Given the description of an element on the screen output the (x, y) to click on. 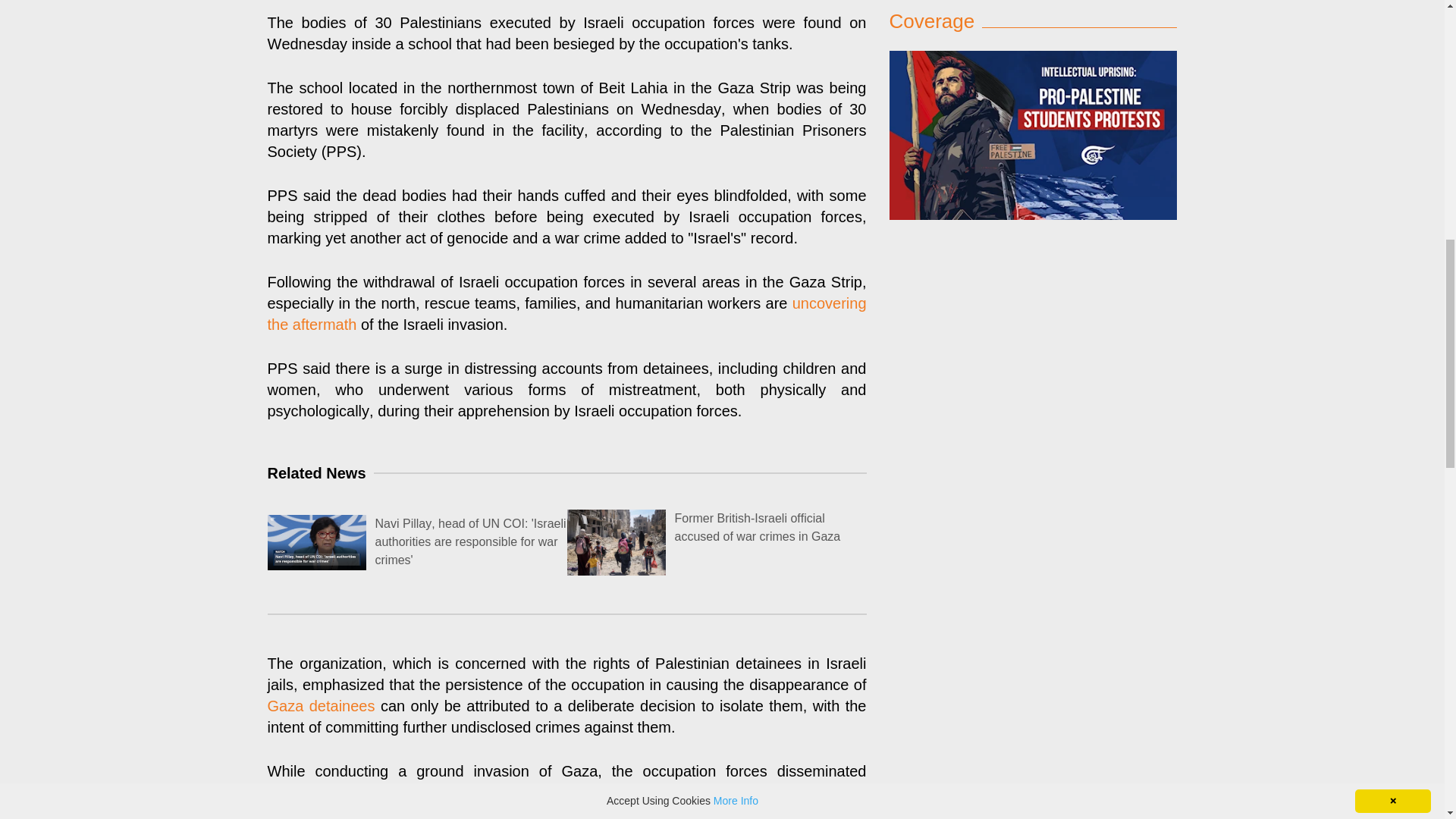
Intellectual Uprising: Pro-Palestine students protests (1032, 1)
